Given the description of an element on the screen output the (x, y) to click on. 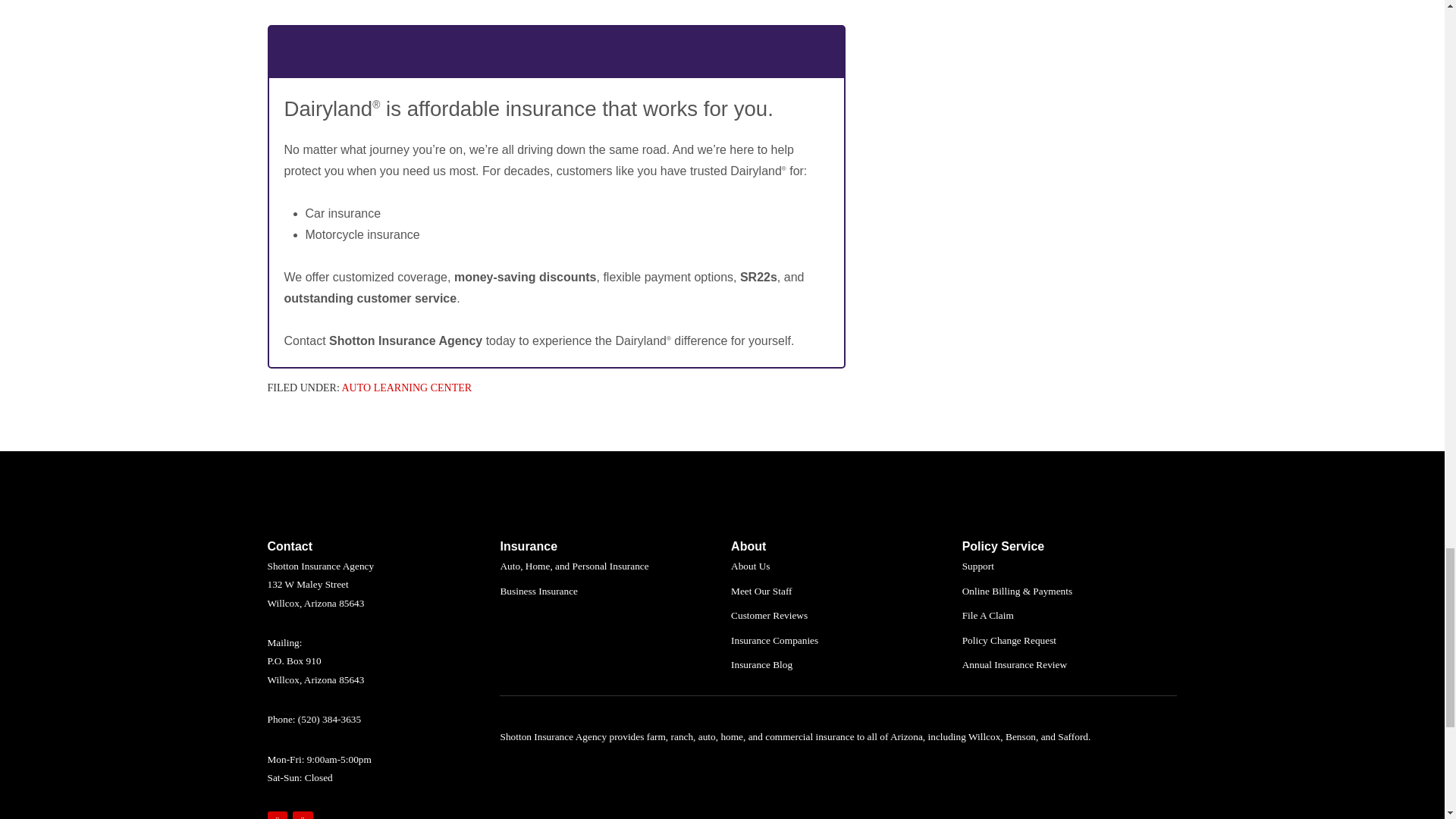
Google Maps (276, 815)
Yelp (302, 815)
Auto Learning Center (405, 387)
